Given the description of an element on the screen output the (x, y) to click on. 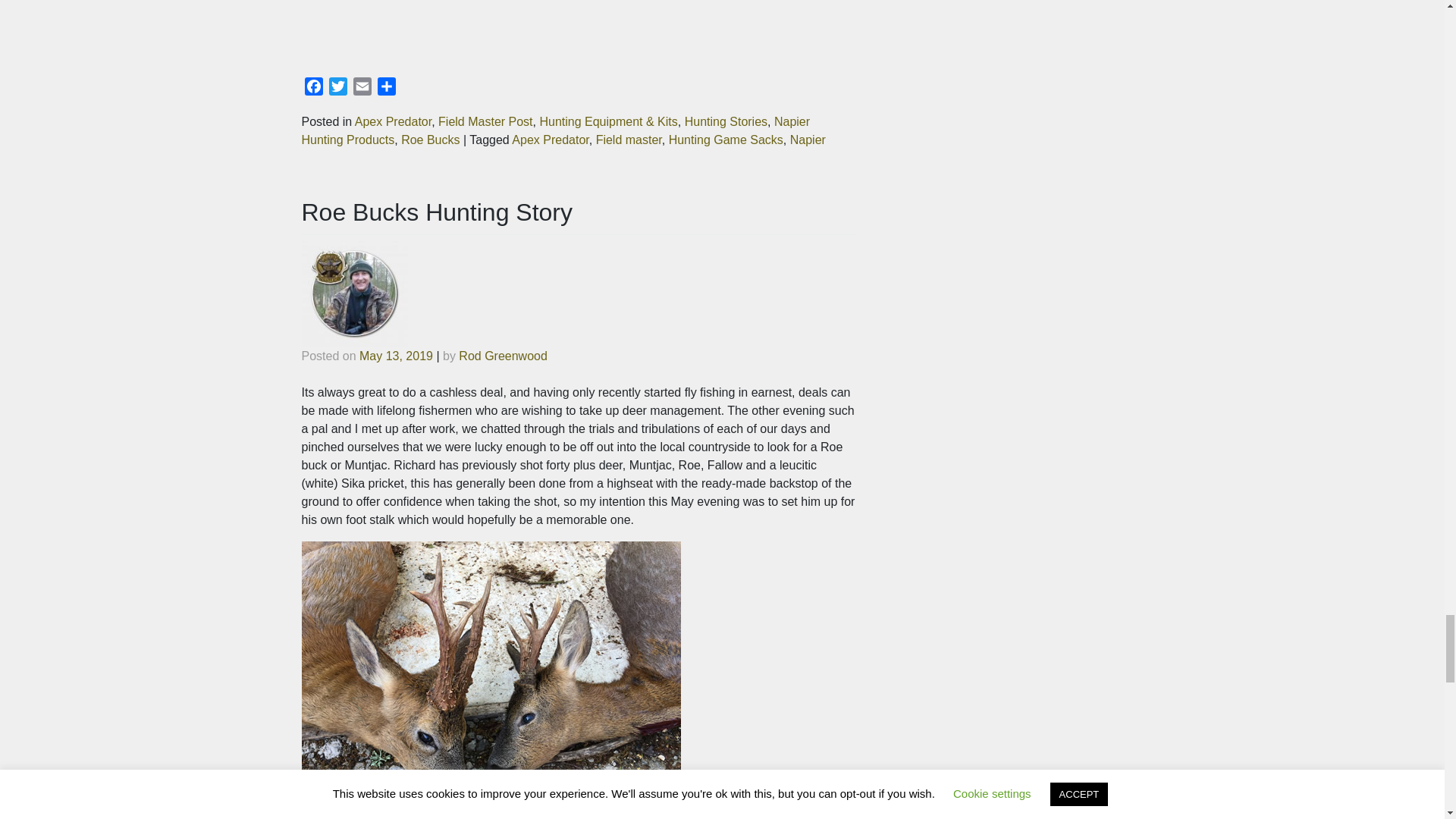
Email (362, 88)
Facebook (313, 88)
Twitter (338, 88)
Back to the vehicle with the Apex Predator (578, 29)
